Given the description of an element on the screen output the (x, y) to click on. 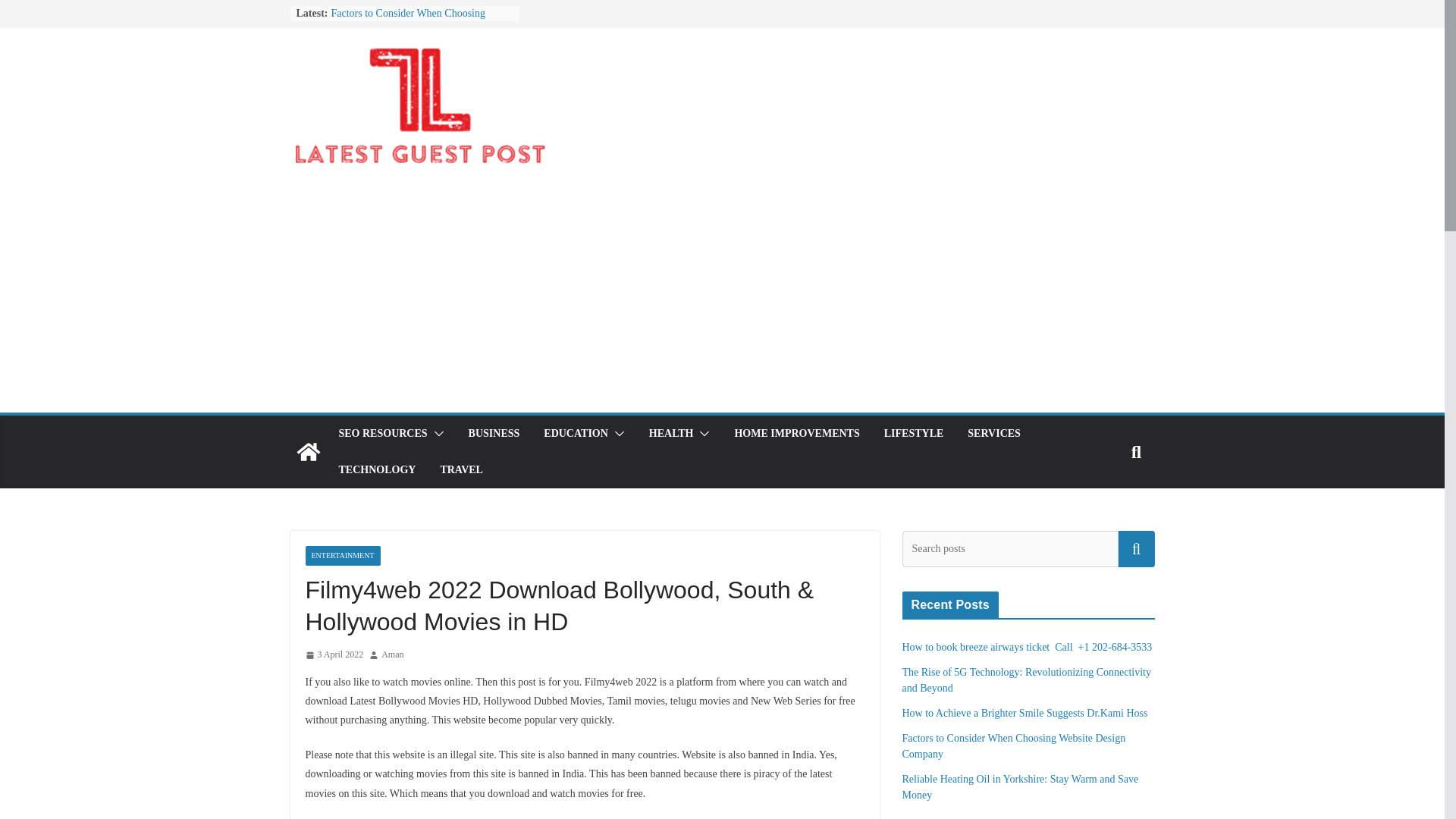
TECHNOLOGY (375, 469)
Aman (392, 655)
LIFESTYLE (913, 433)
HEALTH (671, 433)
3 April 2022 (333, 655)
SEO RESOURCES (381, 433)
08:49 (333, 655)
Search (1136, 548)
Reliable Heating Oil in Yorkshire: Stay Warm and Save Money (1020, 786)
BUSINESS (493, 433)
HOME IMPROVEMENTS (796, 433)
TRAVEL (461, 469)
